Given the description of an element on the screen output the (x, y) to click on. 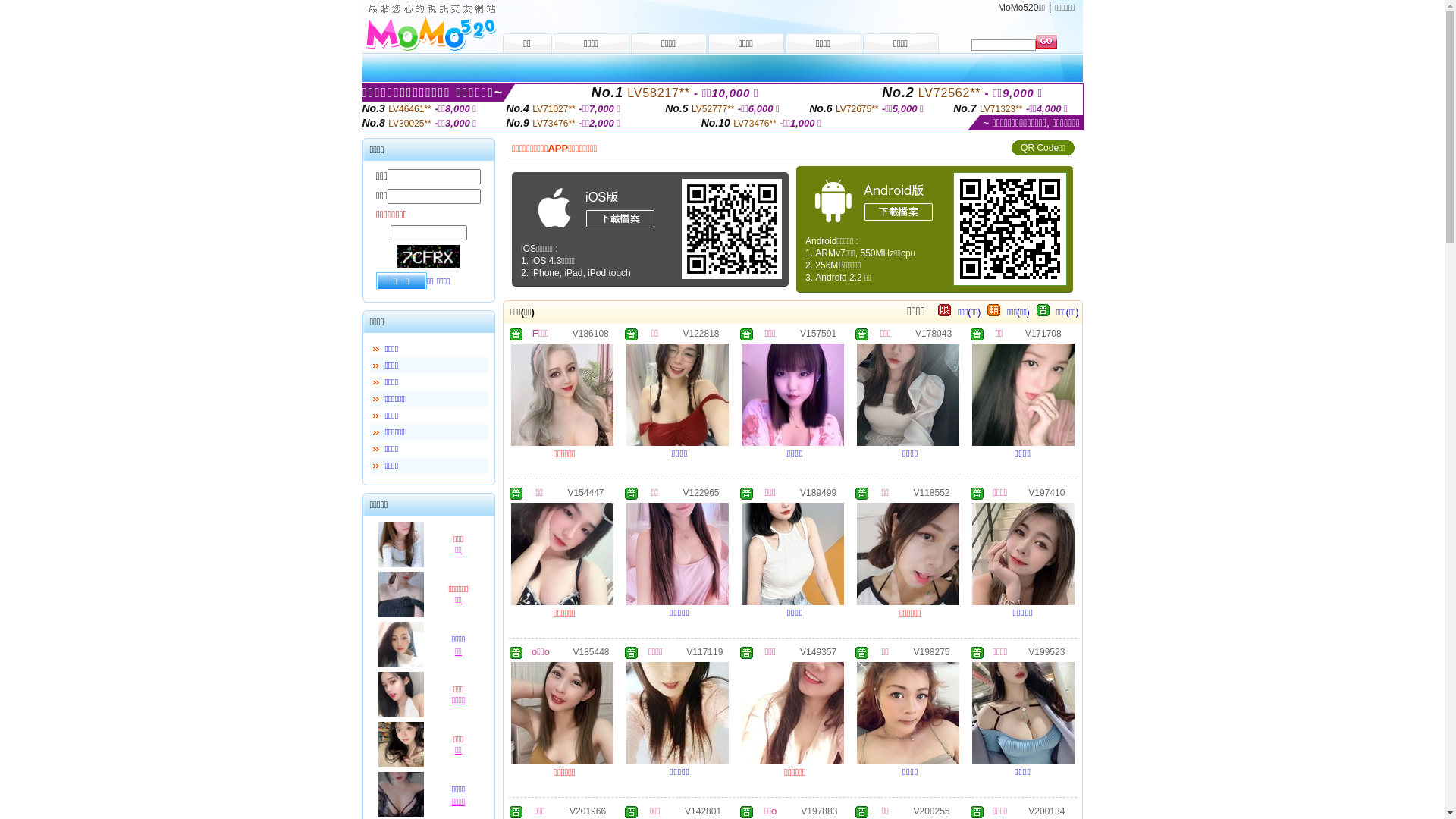
V201966 Element type: text (587, 810)
V197883 Element type: text (818, 810)
V199523 Element type: text (1046, 651)
V198275 Element type: text (931, 651)
V118552 Element type: text (931, 491)
V178043 Element type: text (933, 332)
V117119 Element type: text (704, 651)
V122818 Element type: text (700, 332)
V197410 Element type: text (1046, 491)
V185448 Element type: text (590, 651)
V200255 Element type: text (931, 810)
V189499 Element type: text (818, 491)
V171708 Element type: text (1043, 332)
V122965 Element type: text (700, 491)
V186108 Element type: text (590, 332)
V154447 Element type: text (585, 491)
V200134 Element type: text (1046, 810)
V157591 Element type: text (818, 332)
V149357 Element type: text (818, 651)
V142801 Element type: text (702, 810)
